Given the description of an element on the screen output the (x, y) to click on. 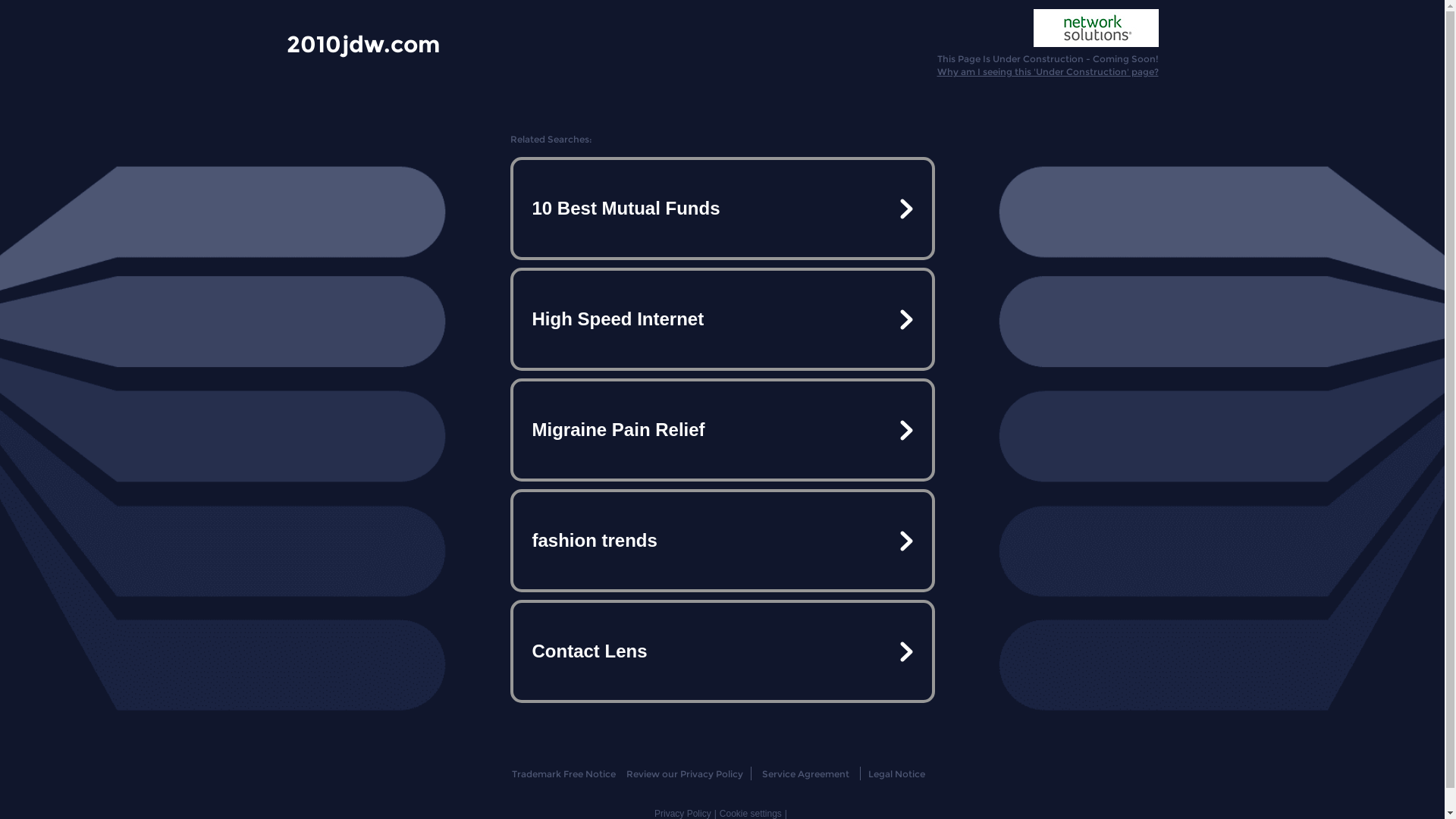
fashion trends Element type: text (721, 540)
Migraine Pain Relief Element type: text (721, 429)
10 Best Mutual Funds Element type: text (721, 208)
Why am I seeing this 'Under Construction' page? Element type: text (1047, 71)
Trademark Free Notice Element type: text (563, 773)
2010jdw.com Element type: text (362, 43)
Contact Lens Element type: text (721, 650)
High Speed Internet Element type: text (721, 318)
Legal Notice Element type: text (896, 773)
Review our Privacy Policy Element type: text (684, 773)
Service Agreement Element type: text (805, 773)
